Given the description of an element on the screen output the (x, y) to click on. 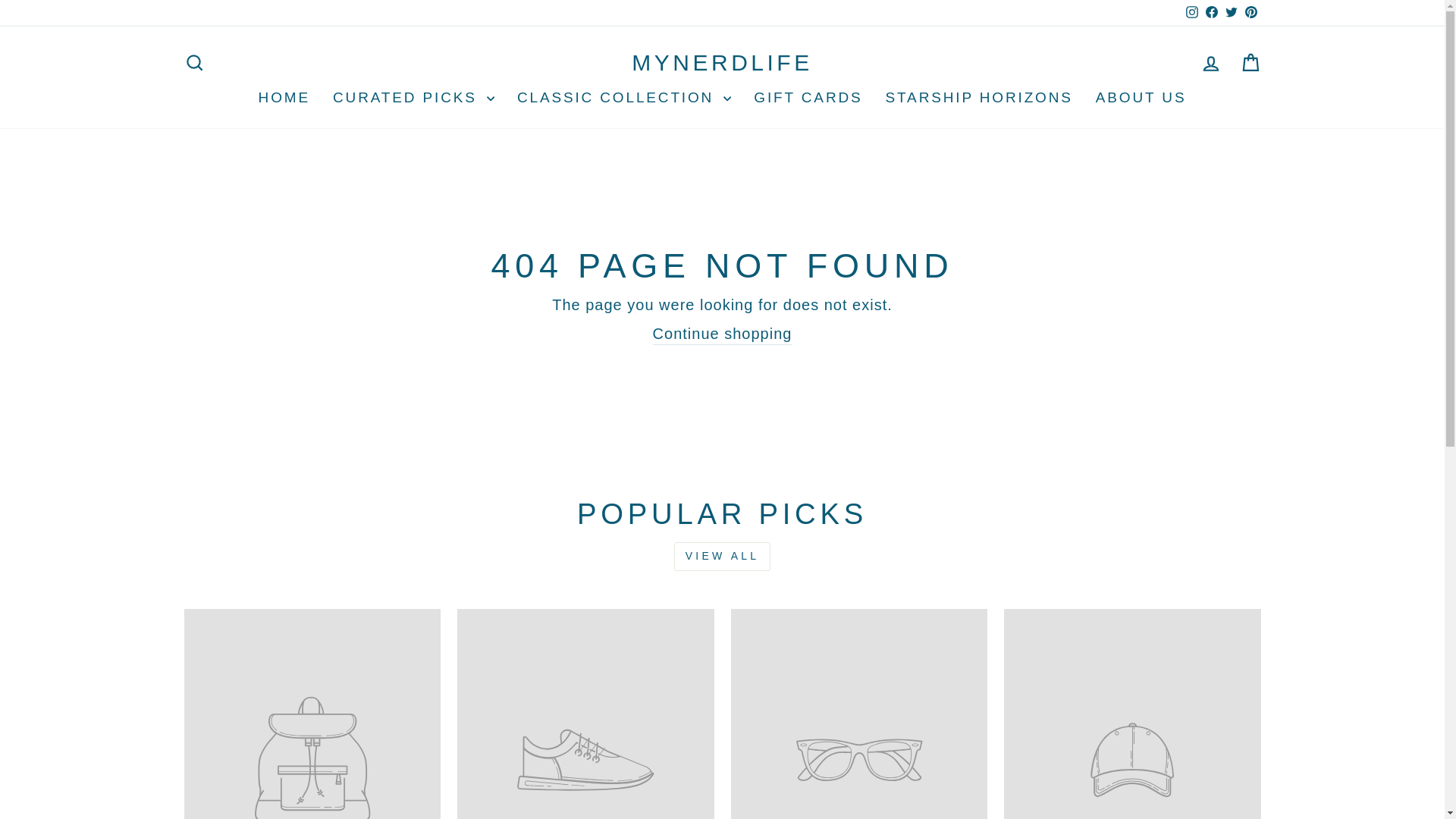
twitter (1231, 11)
ICON-SEARCH (194, 62)
ACCOUNT (1210, 63)
instagram (1192, 11)
